Given the description of an element on the screen output the (x, y) to click on. 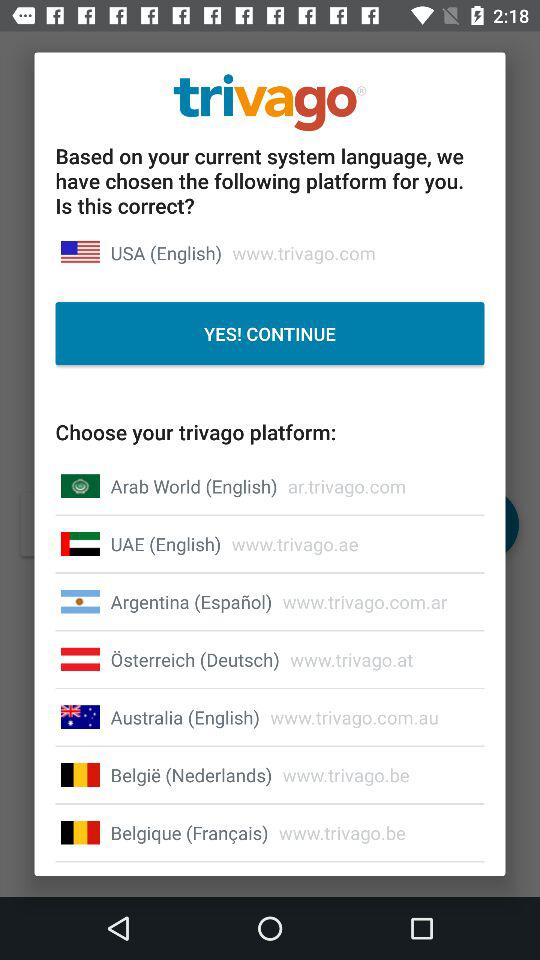
select arab world (english) icon (193, 486)
